Given the description of an element on the screen output the (x, y) to click on. 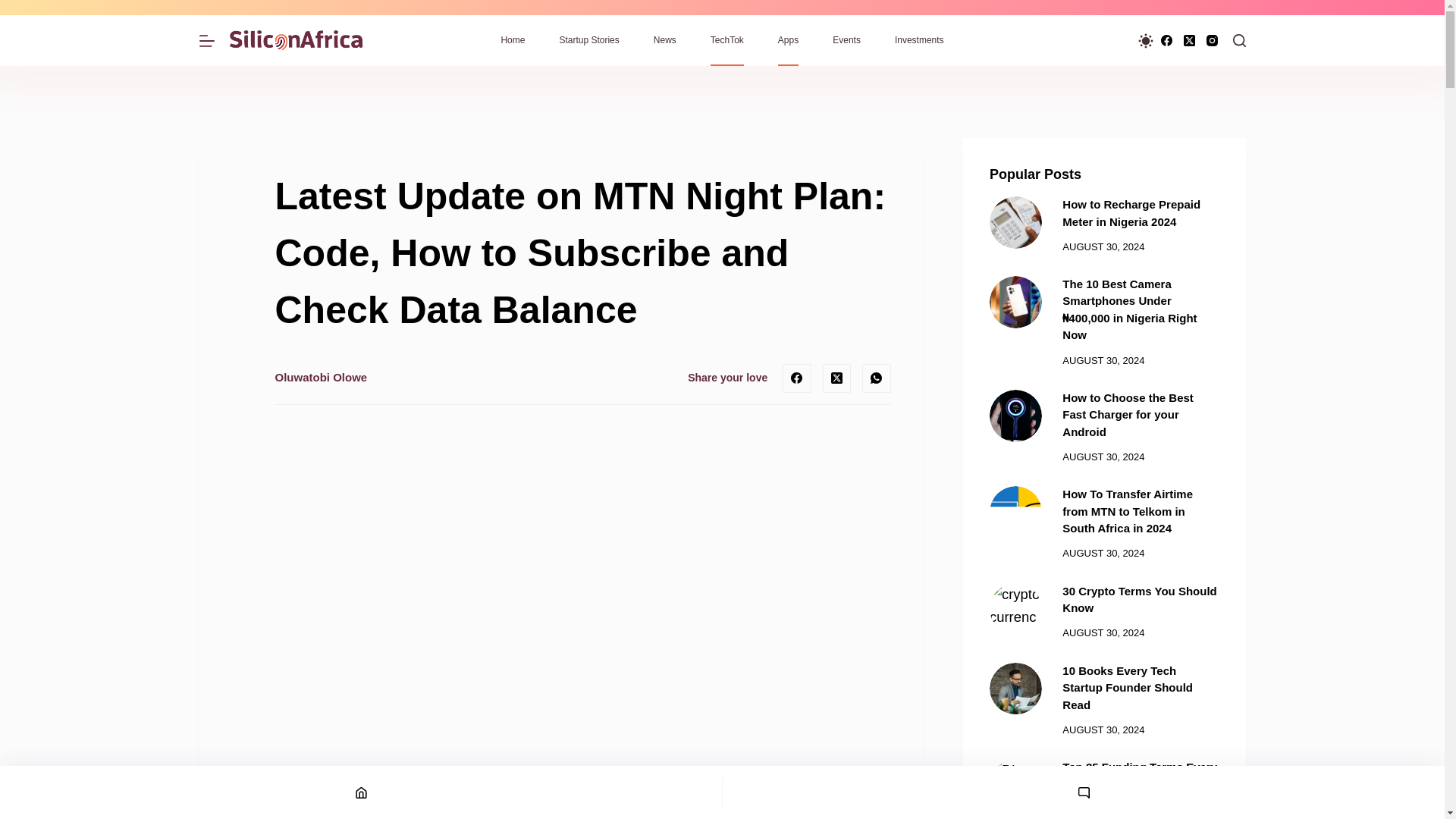
Events (846, 40)
Investments (918, 40)
TechTok (726, 40)
Startup Stories (588, 40)
Apps (787, 40)
Home (512, 40)
Skip to content (15, 7)
News (664, 40)
